Given the description of an element on the screen output the (x, y) to click on. 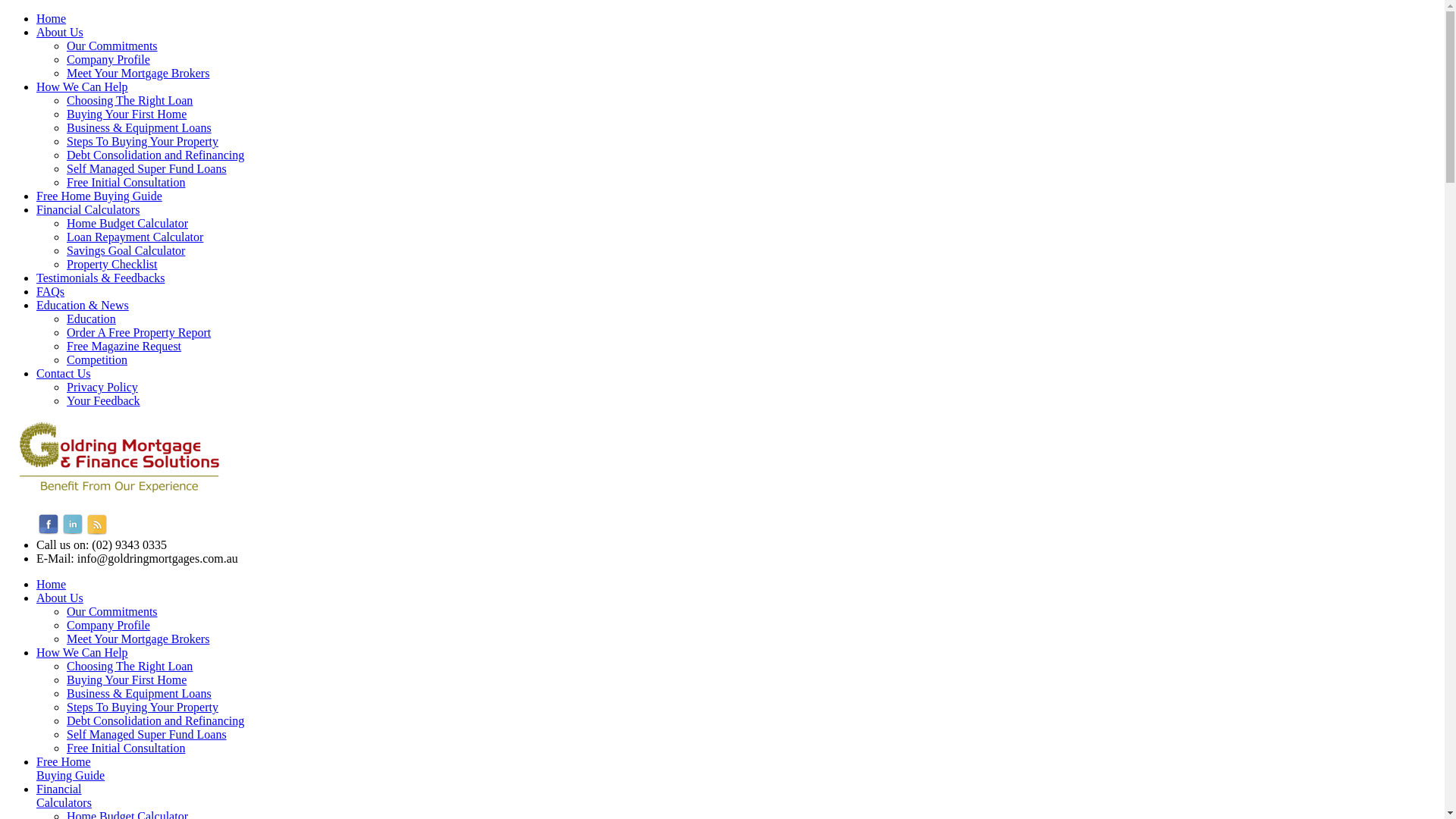
Choosing The Right Loan Element type: text (752, 100)
Buying Your First Home Element type: text (752, 114)
Business & Equipment Loans Element type: text (752, 127)
Testimonials & Feedbacks Element type: text (737, 278)
Debt Consolidation and Refinancing Element type: text (155, 720)
Financial
Calculators Element type: text (63, 795)
Contact Us Element type: text (737, 373)
Business & Equipment Loans Element type: text (138, 693)
Meet Your Mortgage Brokers Element type: text (752, 73)
Education Element type: text (752, 319)
Company Profile Element type: text (752, 59)
Buying Your First Home Element type: text (126, 679)
Property Checklist Element type: text (752, 264)
Free Initial Consultation Element type: text (125, 747)
Debt Consolidation and Refinancing Element type: text (752, 155)
FAQs Element type: text (737, 291)
Loan Repayment Calculator Element type: text (752, 237)
Choosing The Right Loan Element type: text (129, 665)
Home Element type: text (50, 583)
Education & News Element type: text (737, 305)
Competition Element type: text (752, 360)
Home Budget Calculator Element type: text (752, 223)
Free Home Buying Guide Element type: text (737, 196)
Company Profile Element type: text (108, 624)
Free Home
Buying Guide Element type: text (70, 768)
Steps To Buying Your Property Element type: text (752, 141)
Our Commitments Element type: text (752, 46)
Steps To Buying Your Property Element type: text (142, 706)
Order A Free Property Report Element type: text (752, 332)
About Us Element type: text (59, 597)
Our Commitments Element type: text (111, 611)
How We Can Help Element type: text (82, 652)
Free Magazine Request Element type: text (752, 346)
Privacy Policy Element type: text (752, 387)
Self Managed Super Fund Loans Element type: text (752, 168)
Home Element type: text (737, 18)
Meet Your Mortgage Brokers Element type: text (137, 638)
Savings Goal Calculator Element type: text (752, 250)
Free Initial Consultation Element type: text (752, 182)
Your Feedback Element type: text (752, 400)
How We Can Help Element type: text (737, 87)
Self Managed Super Fund Loans Element type: text (146, 734)
About Us Element type: text (737, 32)
Financial Calculators Element type: text (737, 209)
